Given the description of an element on the screen output the (x, y) to click on. 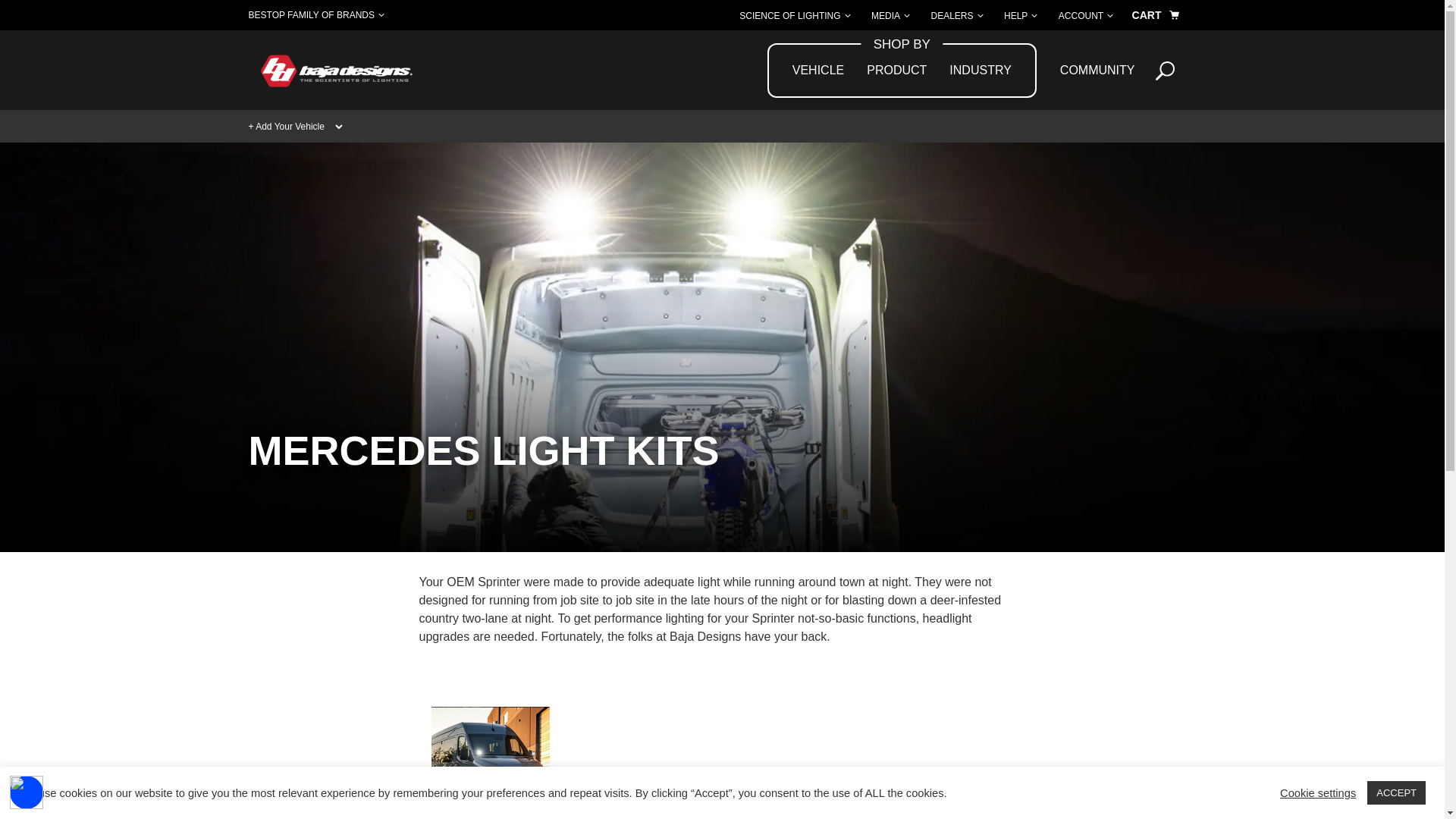
Accessibility Menu (26, 792)
